Given the description of an element on the screen output the (x, y) to click on. 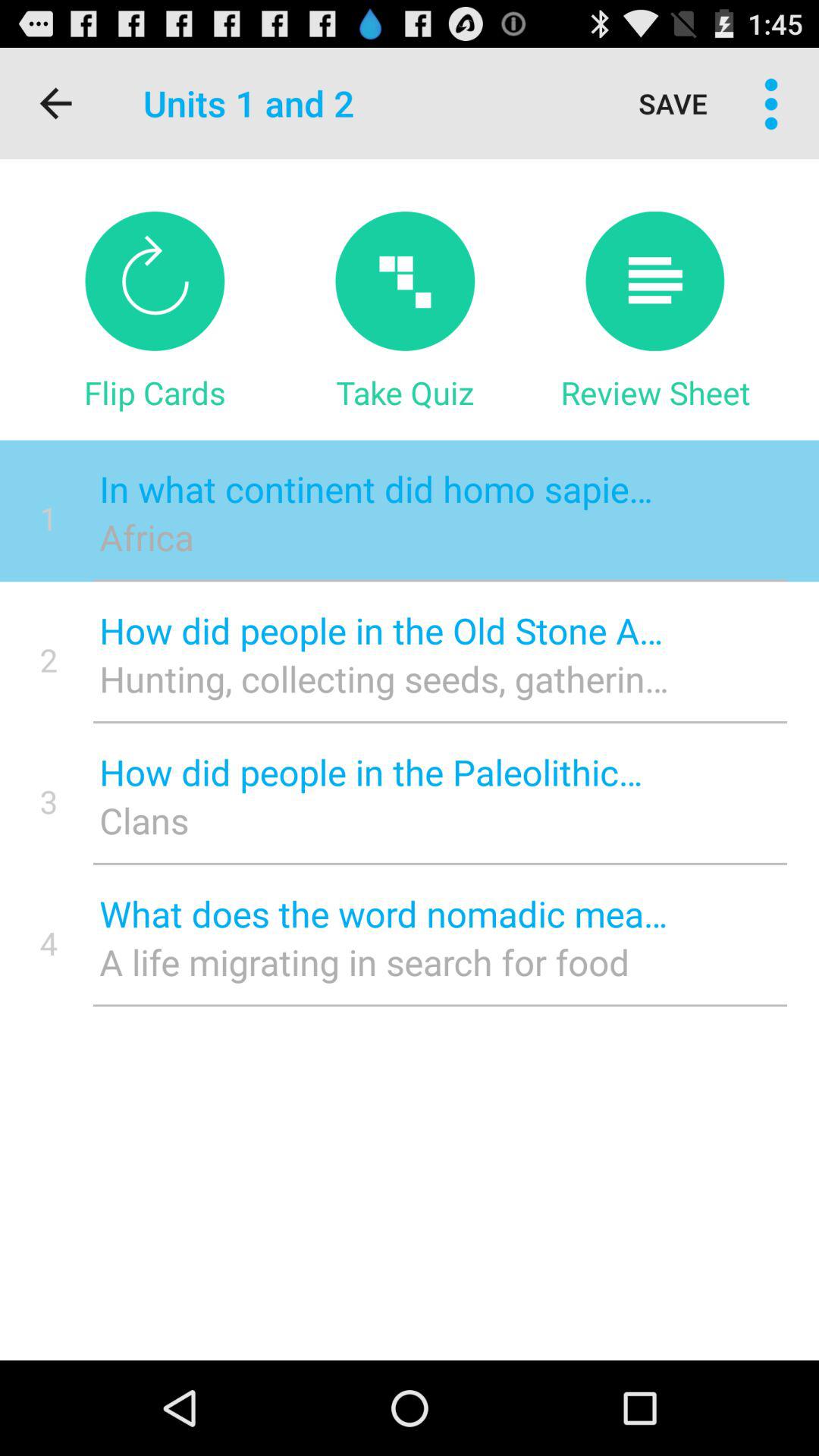
button to review sheet (655, 280)
